Given the description of an element on the screen output the (x, y) to click on. 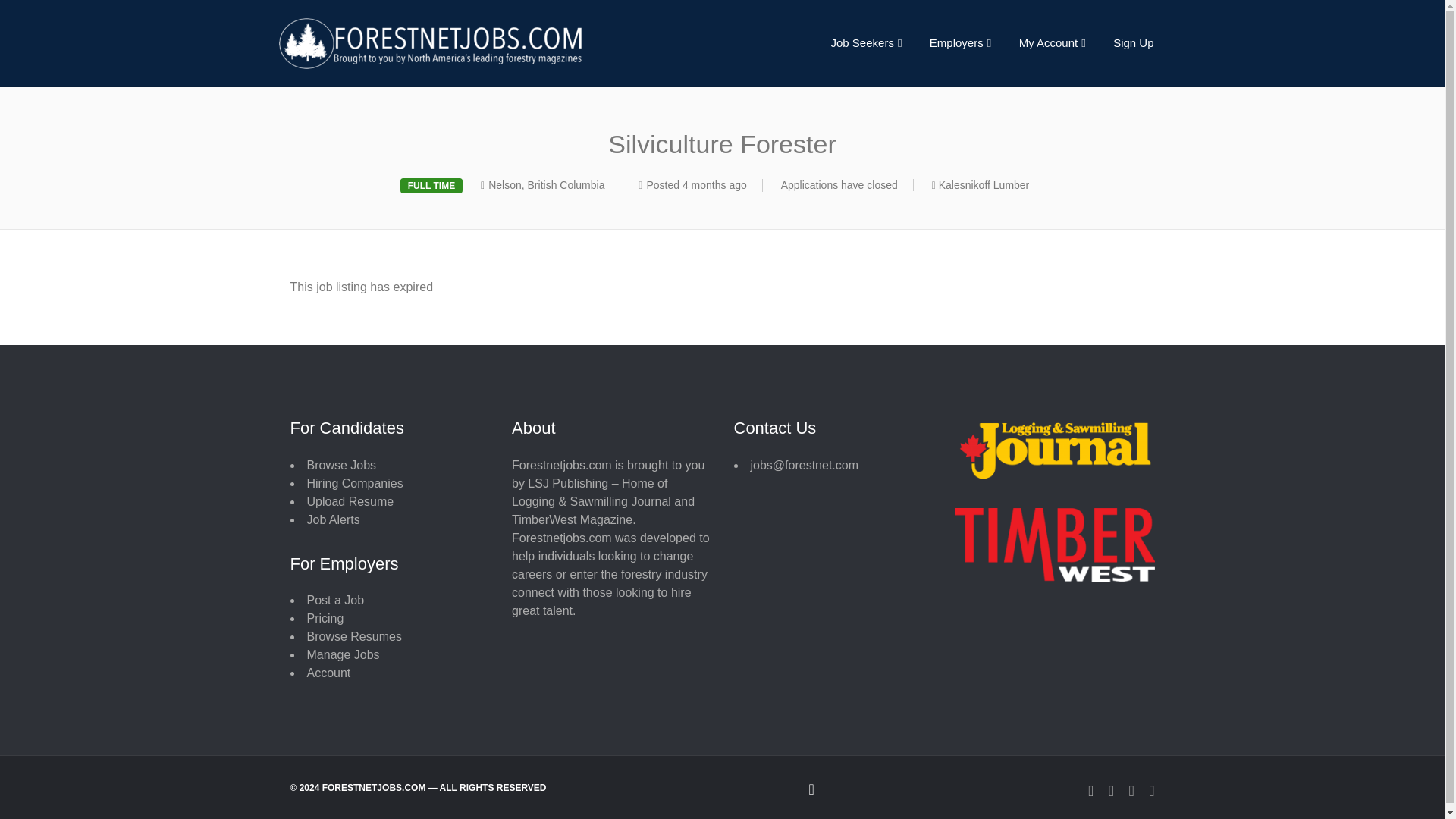
Browse Jobs (340, 464)
Facebook (1090, 789)
Kalesnikoff Lumber (984, 184)
Forestnetjobs.com (495, 43)
Upload Resume (349, 501)
Browse Resumes (353, 635)
Pricing (324, 617)
Employers (960, 43)
Twitter (1110, 789)
My Account (1052, 43)
Job Seekers (866, 43)
Post a Job (334, 599)
Job Alerts (332, 519)
Nelson, British Columbia (545, 184)
Instgram (1131, 789)
